Given the description of an element on the screen output the (x, y) to click on. 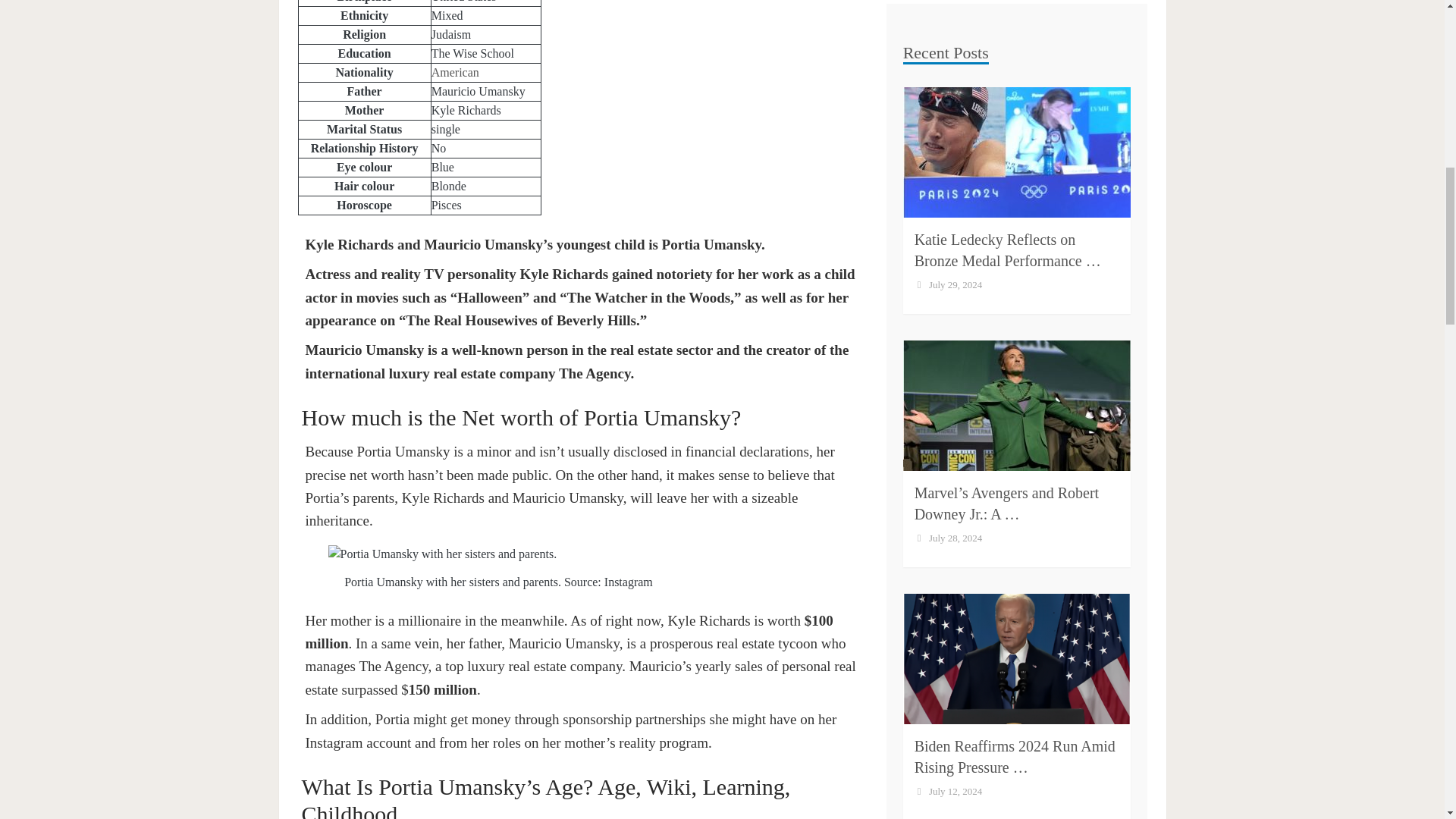
American (454, 72)
